Given the description of an element on the screen output the (x, y) to click on. 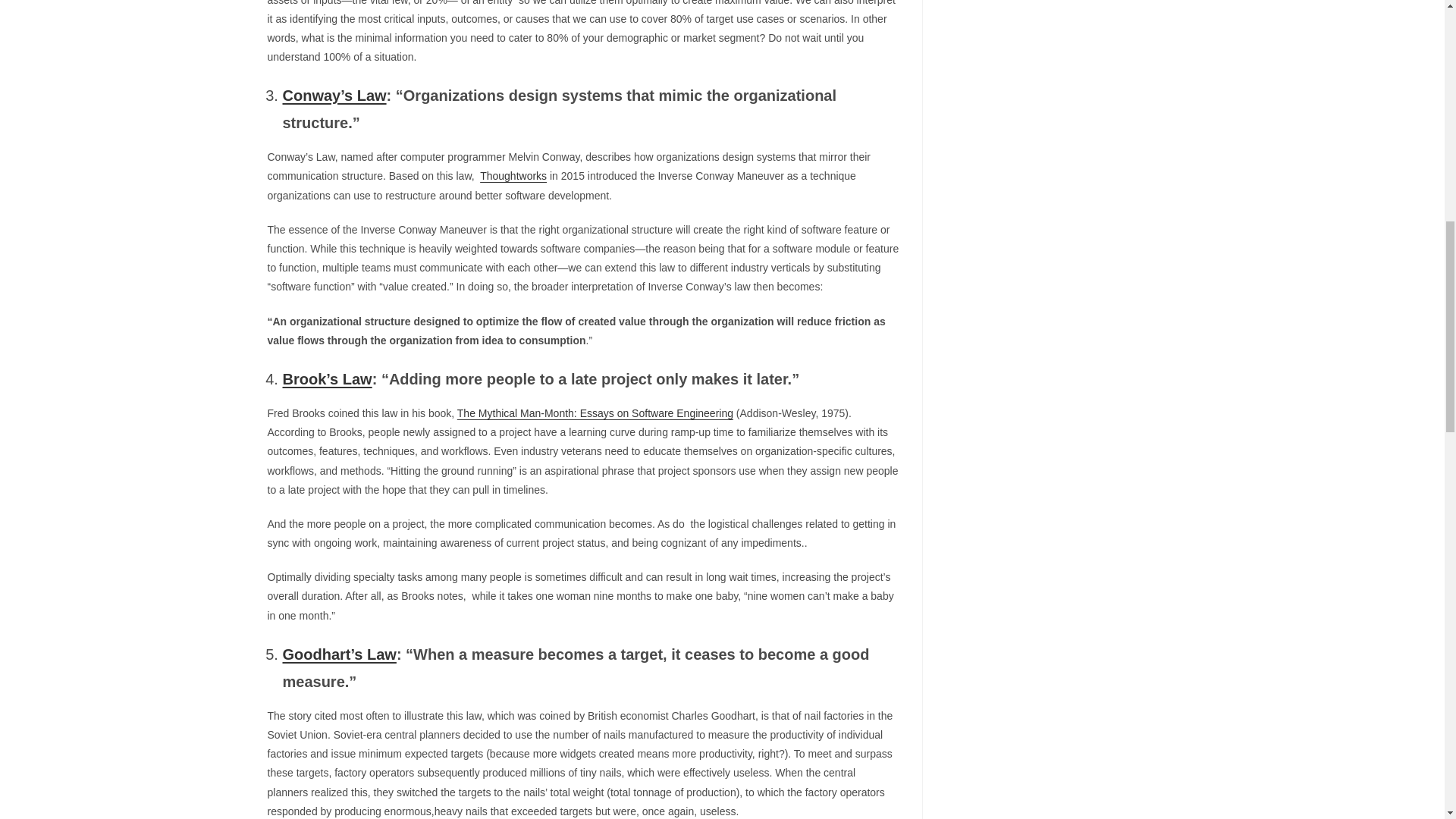
The Mythical Man-Month: Essays on Software Engineering (595, 413)
Thoughtworks (513, 175)
